Given the description of an element on the screen output the (x, y) to click on. 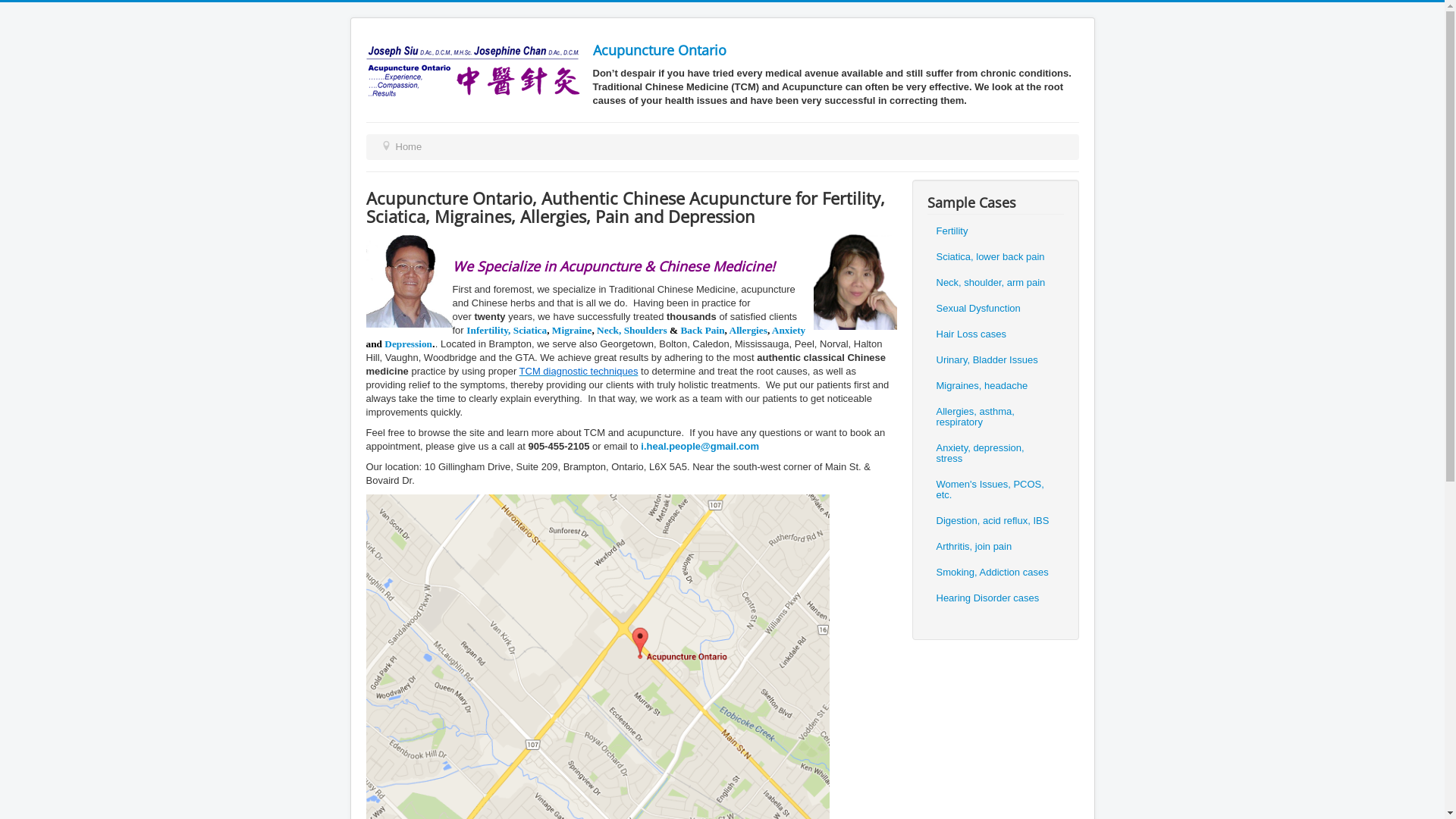
Fertility Element type: text (951, 230)
Migraine Element type: text (572, 329)
Allergies, asthma, respiratory Element type: text (993, 416)
Sciatica, lower back pain Element type: text (989, 256)
Urinary, Bladder Issues Element type: text (986, 359)
Hair Loss cases Element type: text (970, 334)
Sexual Dysfunction Element type: text (977, 308)
Anxiety, depression, stress Element type: text (993, 453)
Neck, shoulder, arm pain Element type: text (990, 282)
Arthritis, join pain Element type: text (973, 546)
Acupuncture Ontario Element type: text (659, 49)
TCM diagnostic techniques Element type: text (578, 370)
Digestion, acid reflux, IBS Element type: text (991, 520)
Migraines, headache Element type: text (981, 385)
Anxiety Element type: text (788, 329)
, Sciatica Element type: text (527, 329)
Smoking, Addiction cases Element type: text (991, 572)
Allergies Element type: text (748, 329)
Women's Issues, PCOS, etc. Element type: text (993, 489)
Hearing Disorder cases Element type: text (987, 597)
Back Pain Element type: text (702, 329)
Infertility Element type: text (487, 329)
i.heal.people@gmail.com Element type: text (699, 445)
Depression Element type: text (408, 343)
Neck, Shoulders Element type: text (631, 329)
